Given the description of an element on the screen output the (x, y) to click on. 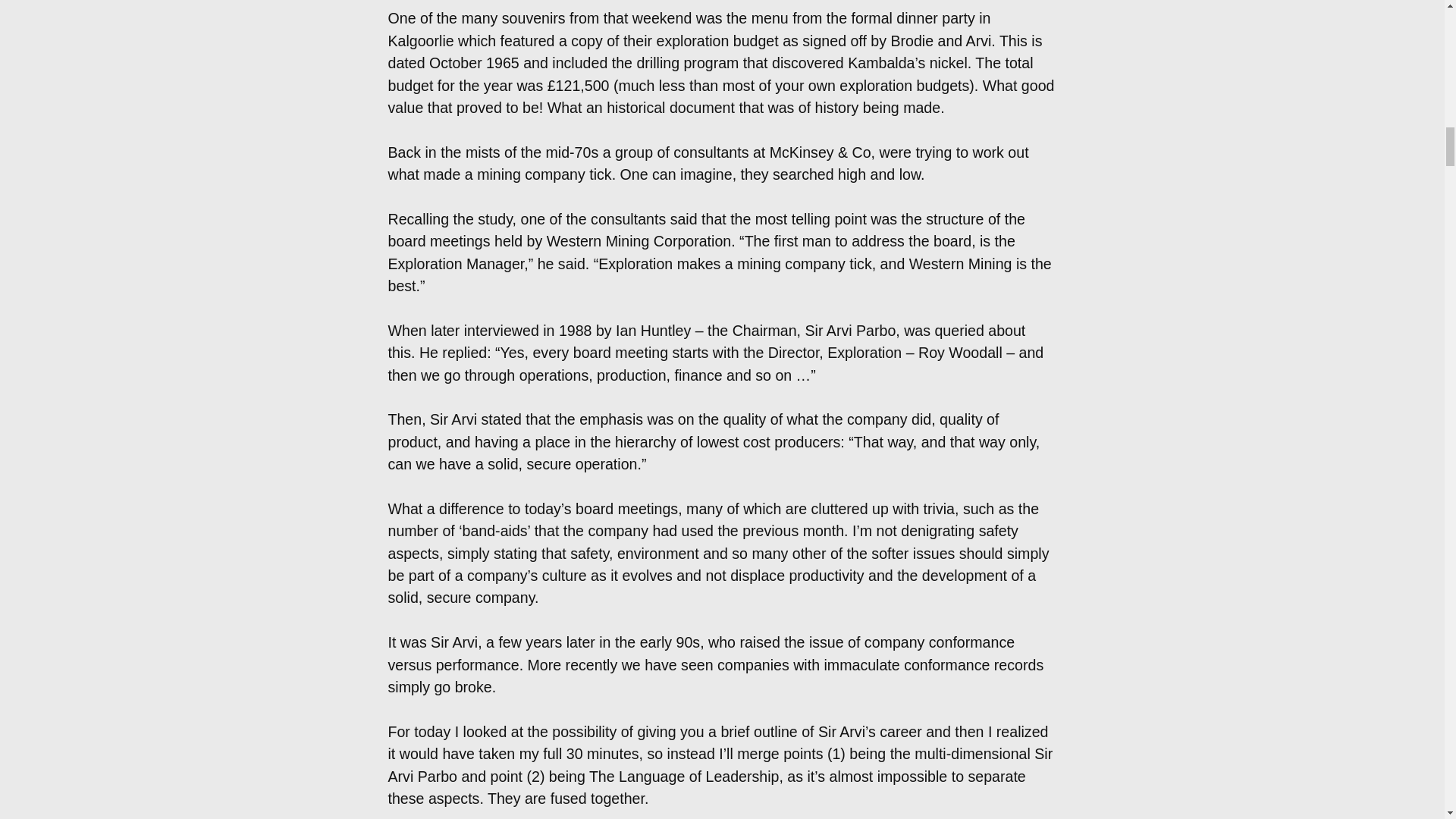
Page 2 (722, 92)
